Given the description of an element on the screen output the (x, y) to click on. 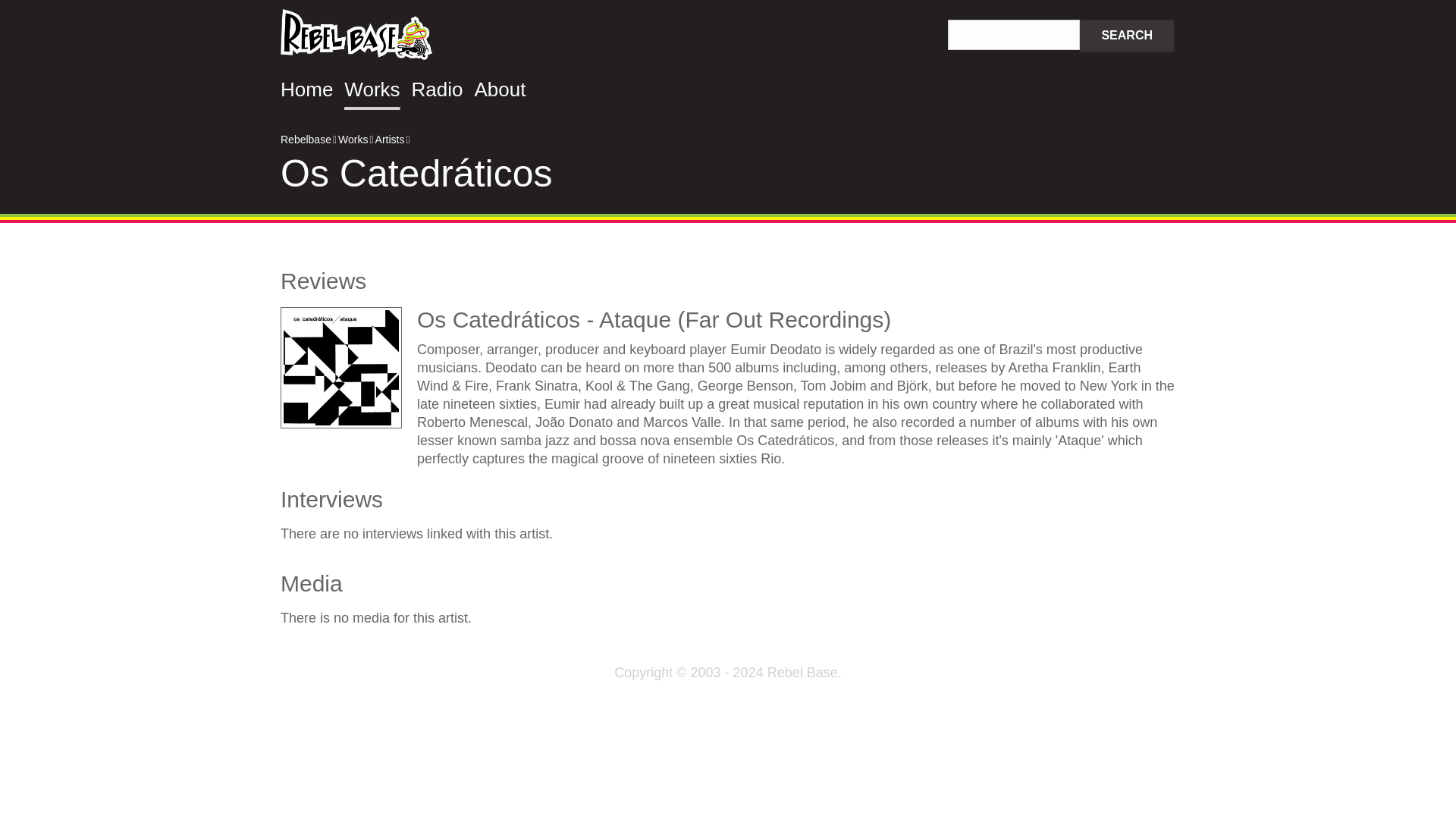
Artists (389, 139)
SEARCH (1127, 36)
About (499, 88)
Home (307, 88)
Rebelbase (306, 139)
Works (352, 139)
Radio (437, 88)
Rebelbase (356, 37)
Works (370, 88)
